Given the description of an element on the screen output the (x, y) to click on. 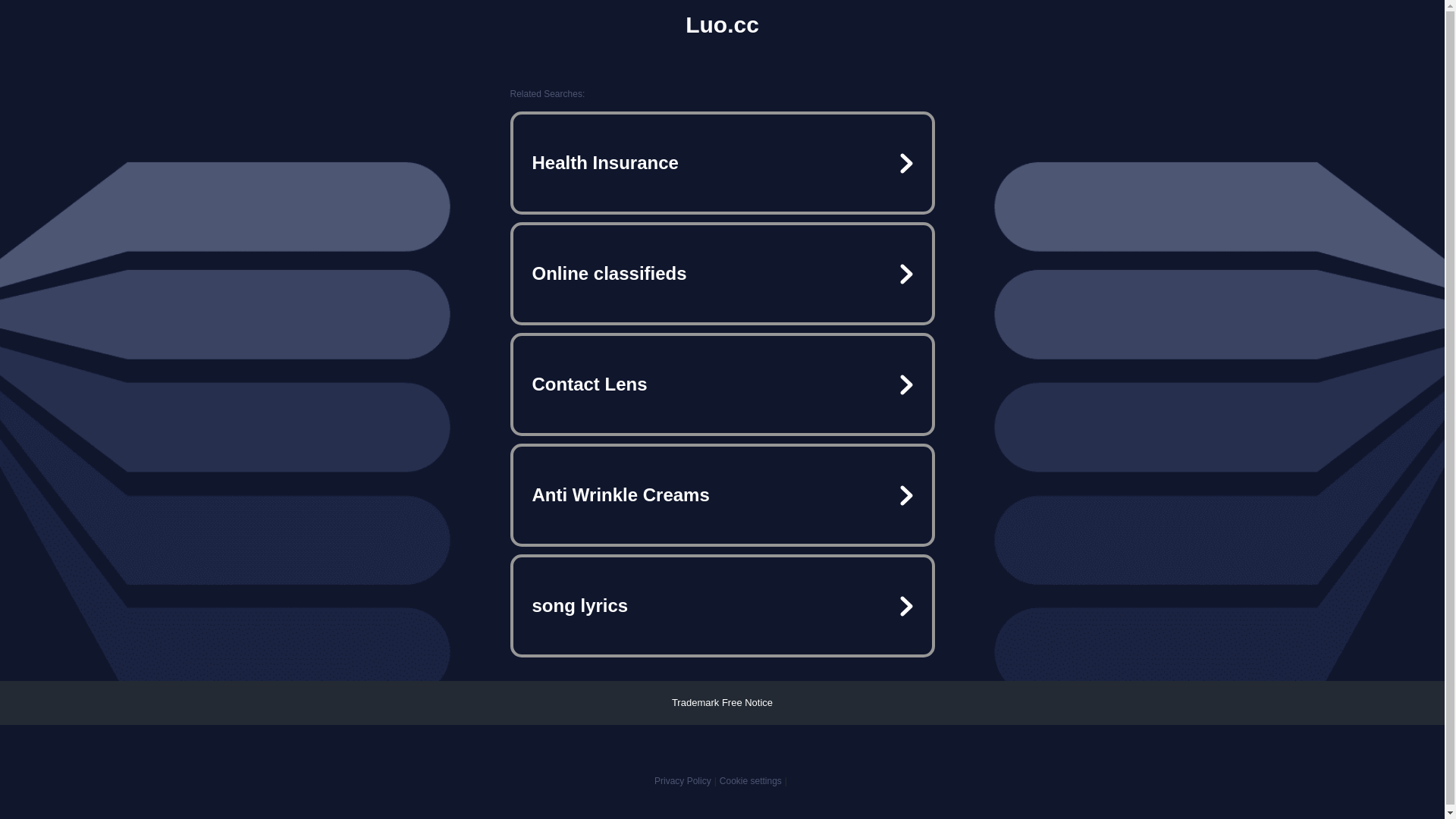
Luo.cc Element type: text (722, 24)
Privacy Policy Element type: text (682, 780)
Online classifieds Element type: text (721, 273)
Trademark Free Notice Element type: text (721, 702)
Health Insurance Element type: text (721, 162)
Anti Wrinkle Creams Element type: text (721, 494)
Contact Lens Element type: text (721, 384)
song lyrics Element type: text (721, 605)
Cookie settings Element type: text (750, 780)
